Given the description of an element on the screen output the (x, y) to click on. 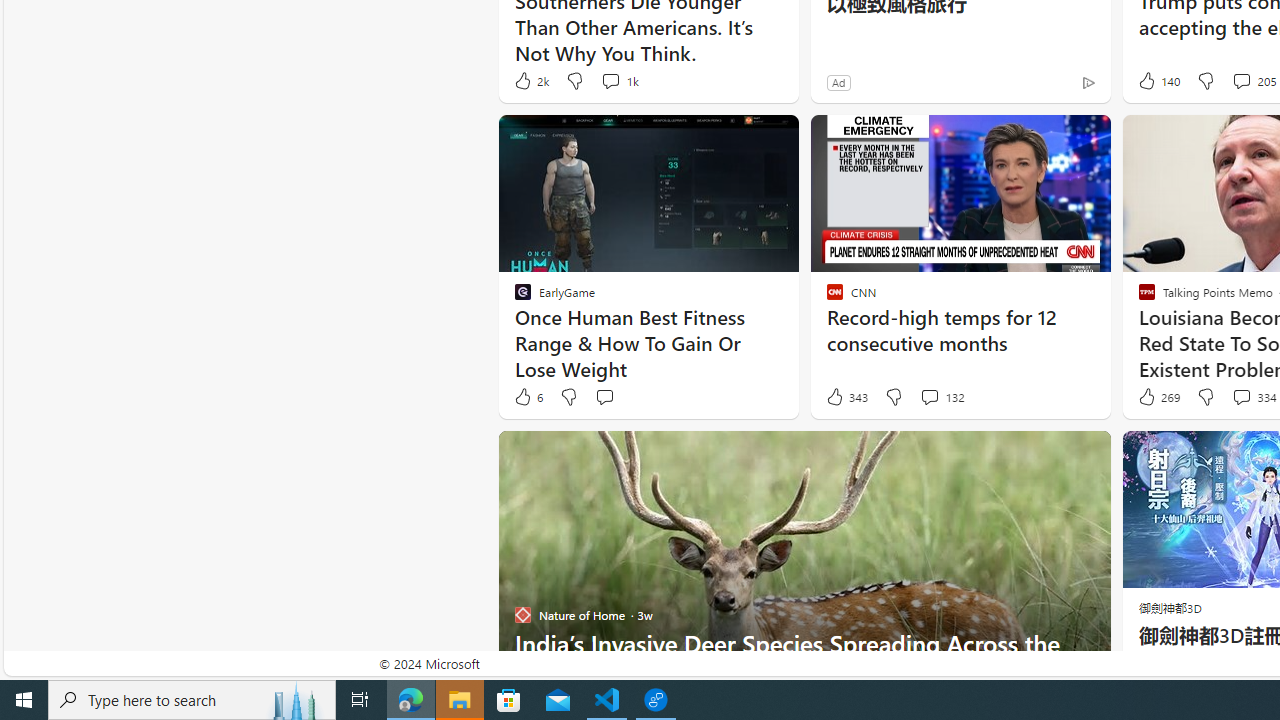
View comments 132 Comment (941, 397)
2k Like (530, 80)
Hide this story (1050, 454)
View comments 205 Comment (1241, 80)
269 Like (1157, 397)
View comments 1k Comment (618, 80)
View comments 132 Comment (929, 396)
View comments 334 Comment (1241, 396)
6 Like (527, 397)
343 Like (845, 397)
